Given the description of an element on the screen output the (x, y) to click on. 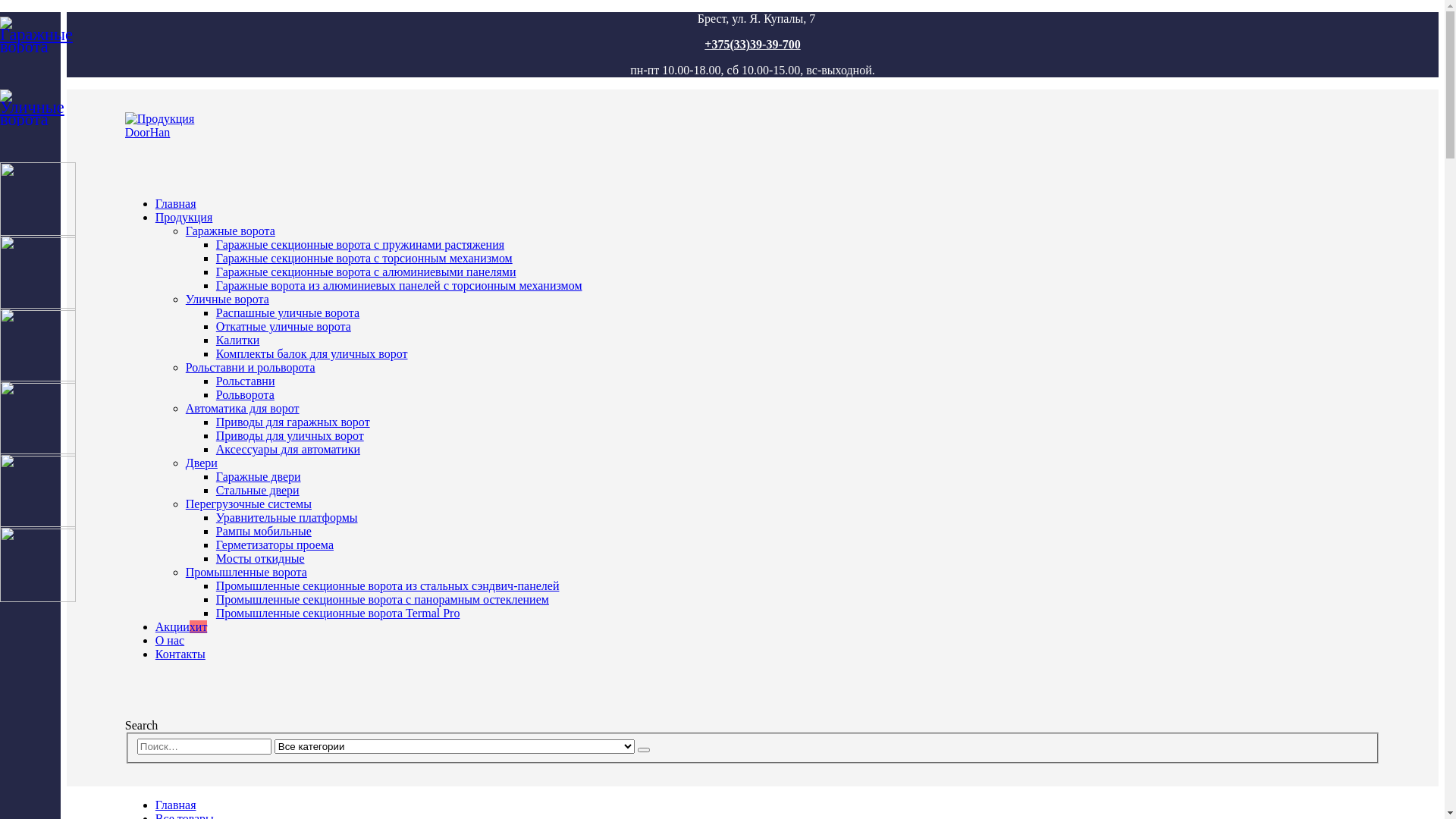
Search Element type: hover (643, 749)
+375(33)39-39-700 Element type: text (752, 43)
Search Element type: text (141, 724)
